Given the description of an element on the screen output the (x, y) to click on. 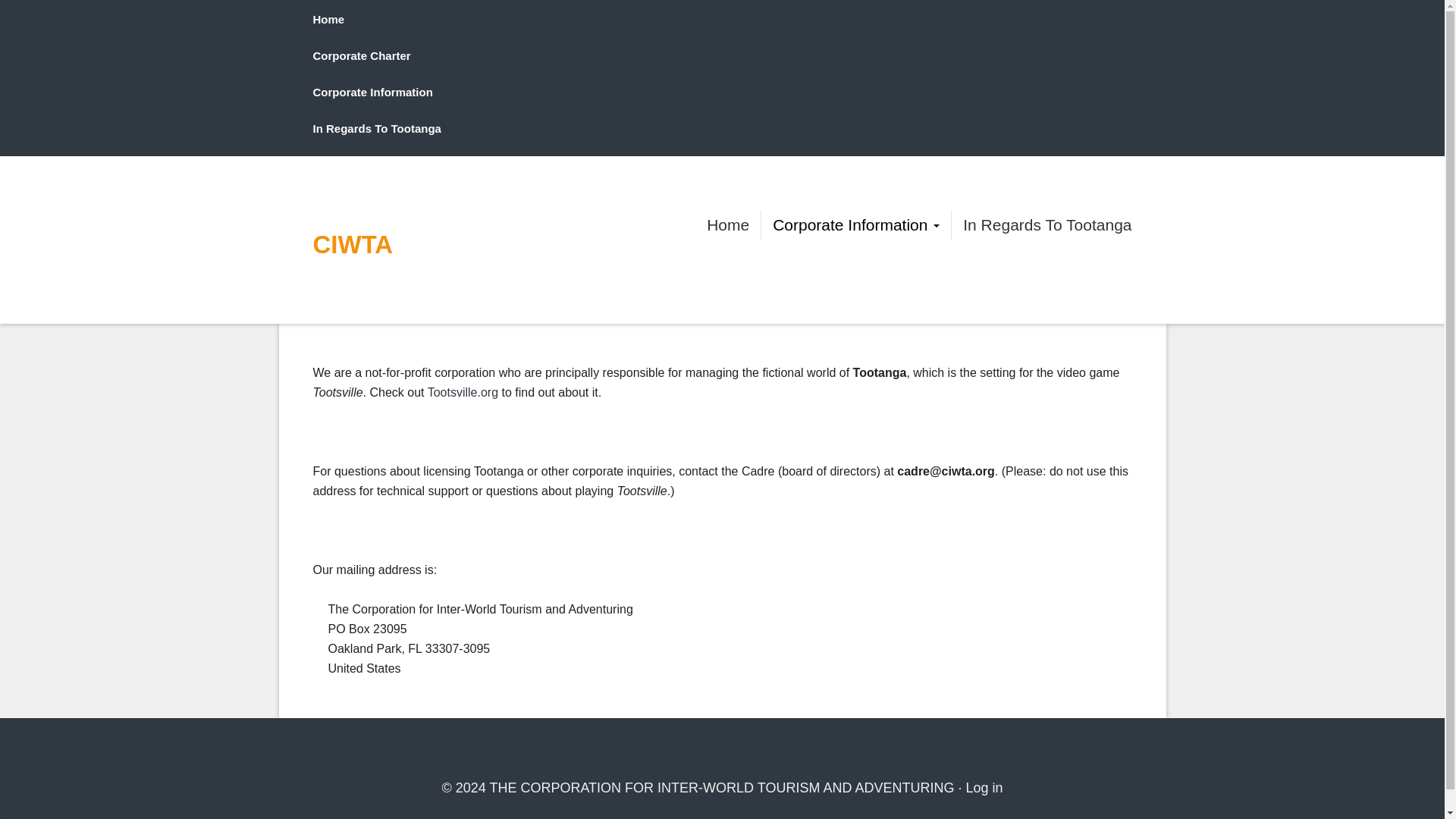
Home (727, 224)
Home (328, 19)
Corporate Information (855, 224)
Corporate Information (372, 91)
In Regards To Tootanga (377, 128)
In Regards To Tootanga (1046, 224)
Tootsville.org (462, 391)
Corporate Charter (361, 55)
Log in (984, 787)
